Given the description of an element on the screen output the (x, y) to click on. 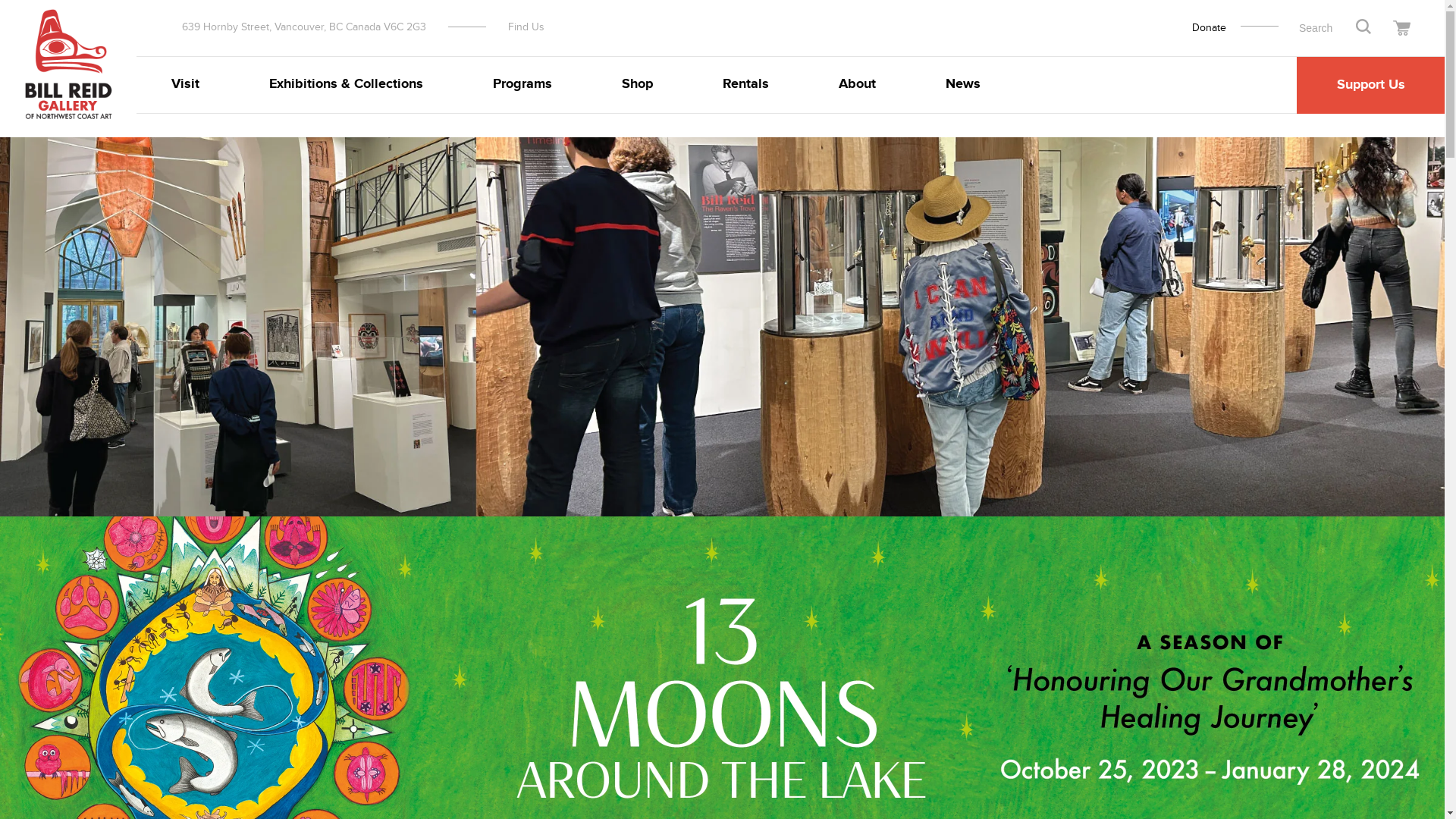
Donate Element type: text (1209, 27)
Exhibitions & Collections Element type: text (346, 84)
Shop Element type: text (636, 84)
Search Element type: text (1363, 26)
About Element type: text (856, 84)
Support Us Element type: text (1370, 84)
Find Us Element type: text (526, 27)
Rentals Element type: text (745, 84)
News Element type: text (962, 84)
Visit Element type: text (185, 84)
Programs Element type: text (522, 84)
